Given the description of an element on the screen output the (x, y) to click on. 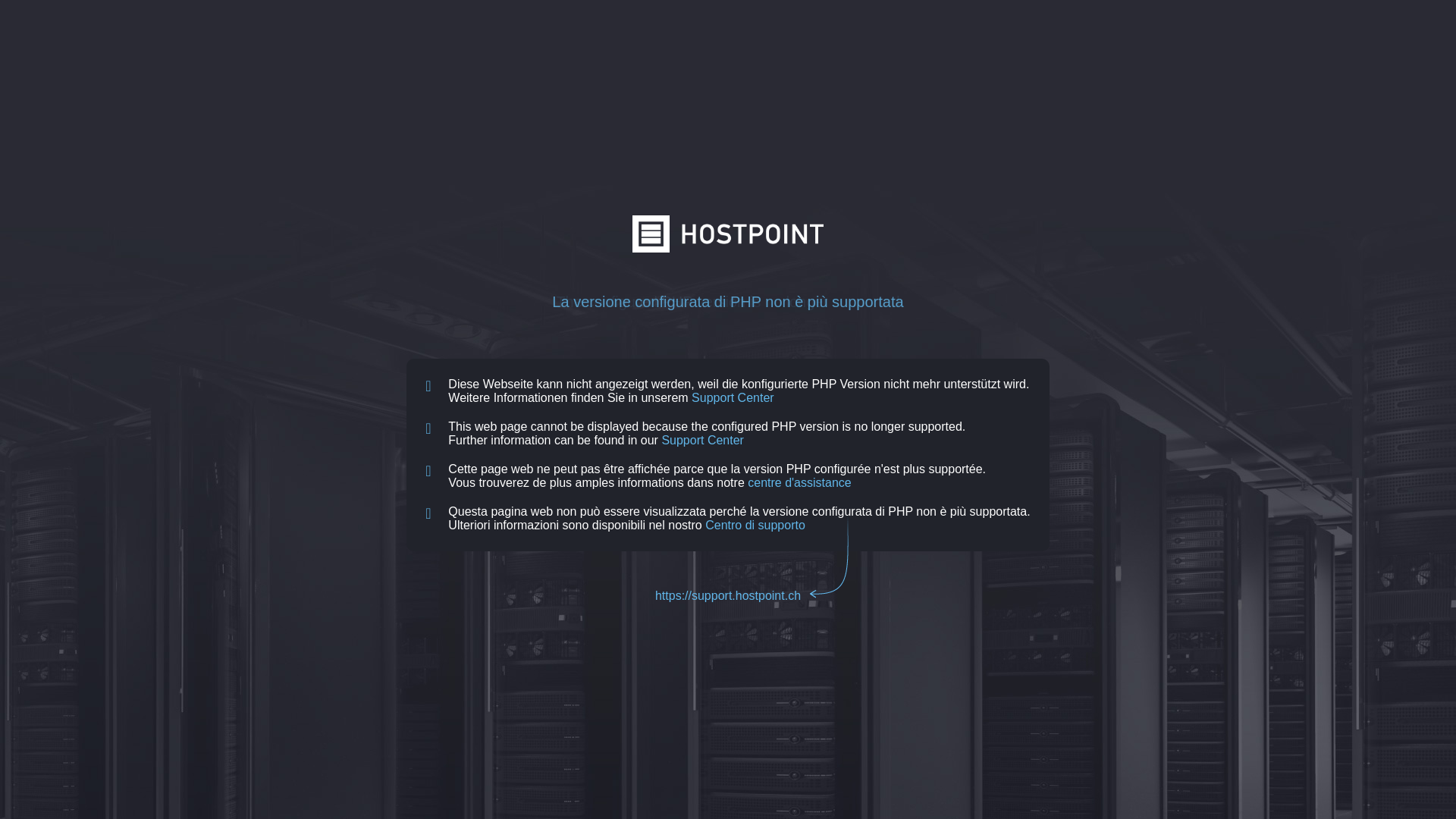
https://support.hostpoint.ch Element type: text (727, 595)
Centro di supporto Element type: text (755, 524)
Support Center Element type: text (702, 439)
Support Center Element type: text (732, 397)
centre d'assistance Element type: text (798, 482)
